Given the description of an element on the screen output the (x, y) to click on. 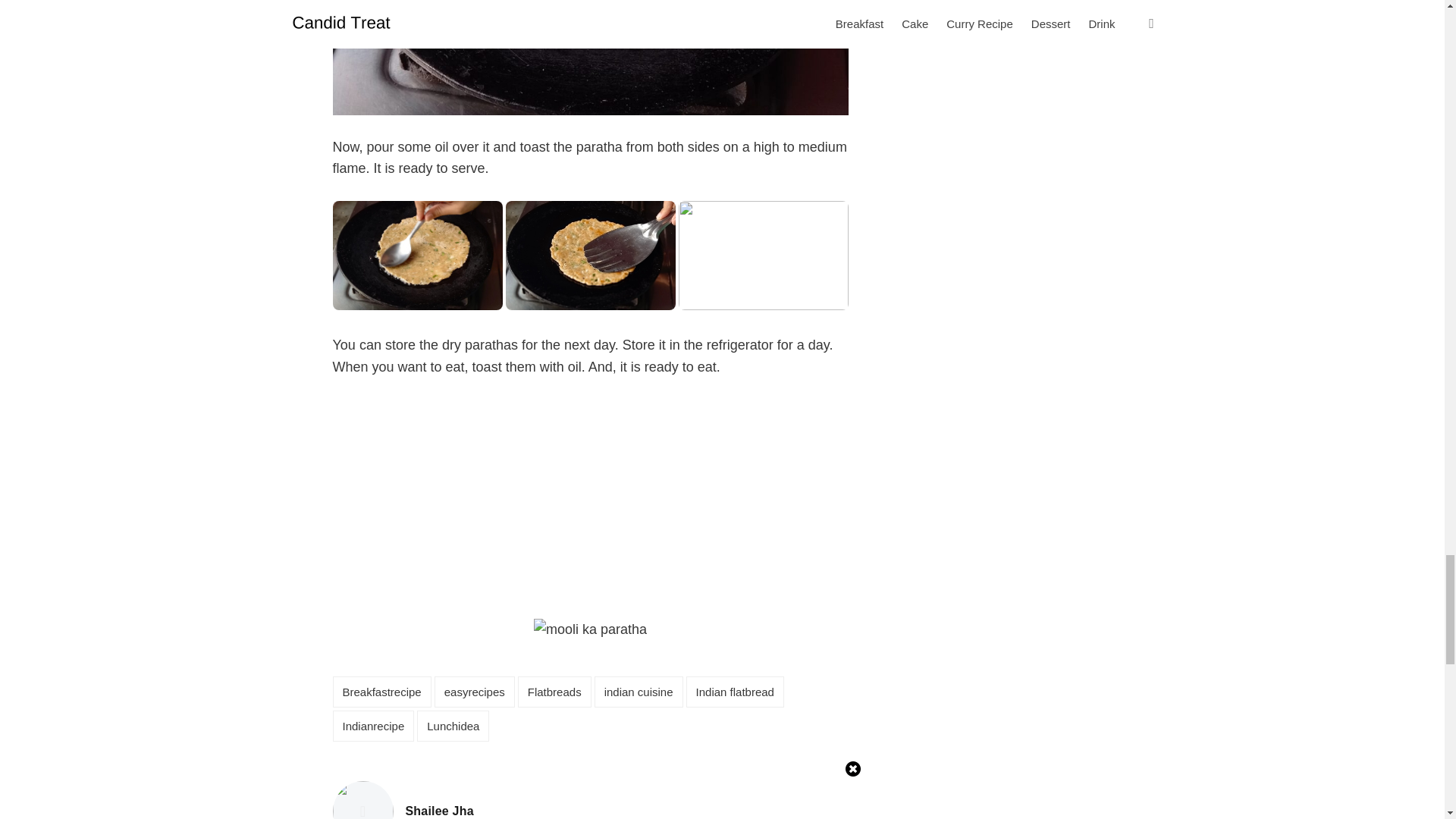
indian cuisine (638, 691)
Indianrecipe (372, 726)
Indian flatbread (734, 691)
Flatbreads (554, 691)
Breakfastrecipe (438, 811)
Lunchidea (380, 691)
easyrecipes (452, 726)
